Given the description of an element on the screen output the (x, y) to click on. 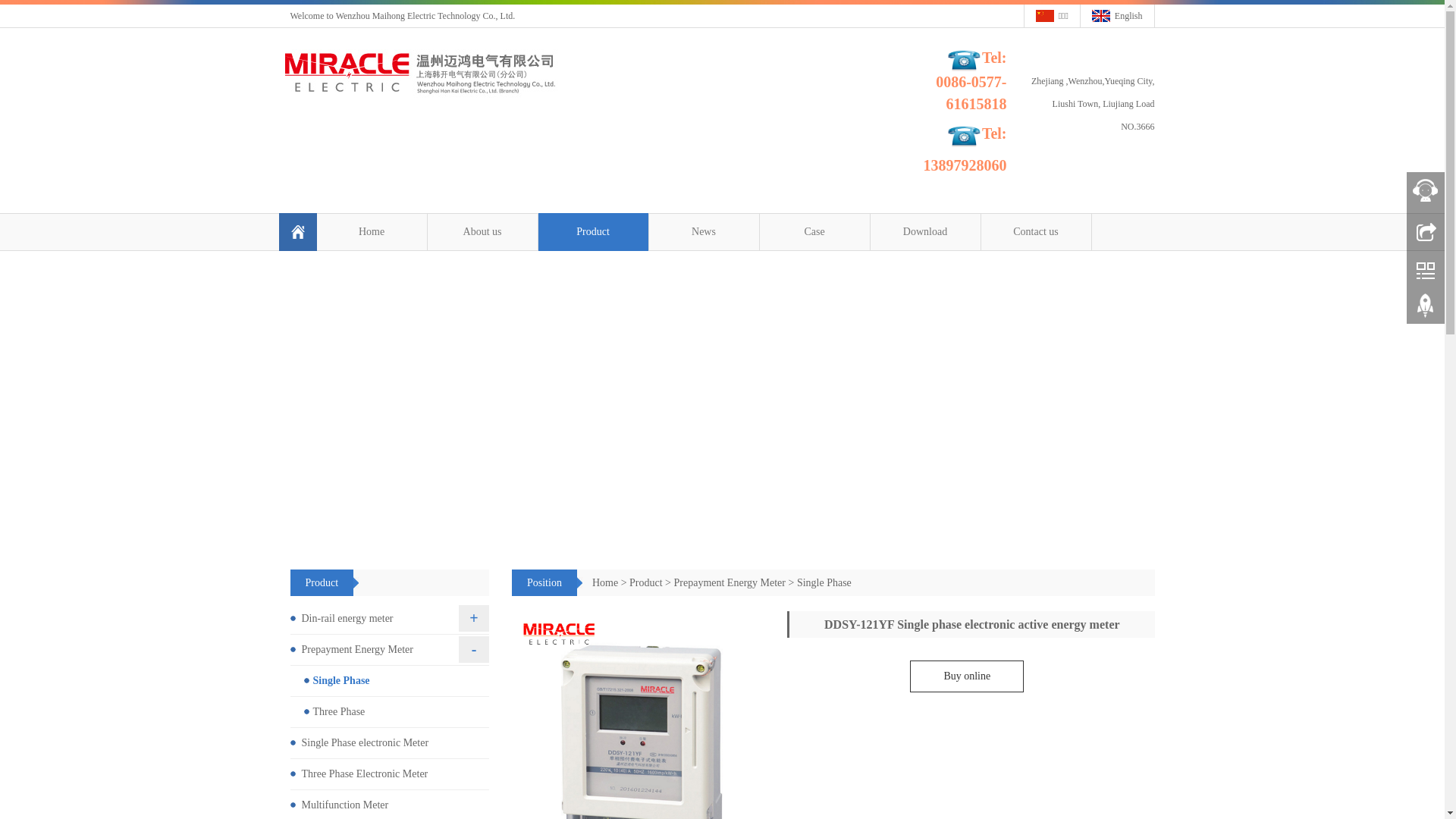
Buy online Element type: text (966, 676)
Case Element type: text (814, 232)
Single Phase electronic Meter Element type: text (389, 743)
Home Element type: text (371, 232)
Contact us Element type: text (1036, 232)
About us Element type: text (482, 232)
News Element type: text (704, 232)
Product Element type: text (593, 232)
Download Element type: text (925, 232)
Three Phase Electronic Meter Element type: text (389, 774)
Three Phase Element type: text (389, 712)
Home Element type: text (605, 582)
Product Element type: text (645, 582)
Single Phase Element type: text (389, 680)
Single Phase Element type: text (824, 582)
Prepayment Energy Meter Element type: text (389, 649)
Din-rail energy meter Element type: text (389, 618)
Prepayment Energy Meter Element type: text (728, 582)
English Element type: text (1117, 15)
